Given the description of an element on the screen output the (x, y) to click on. 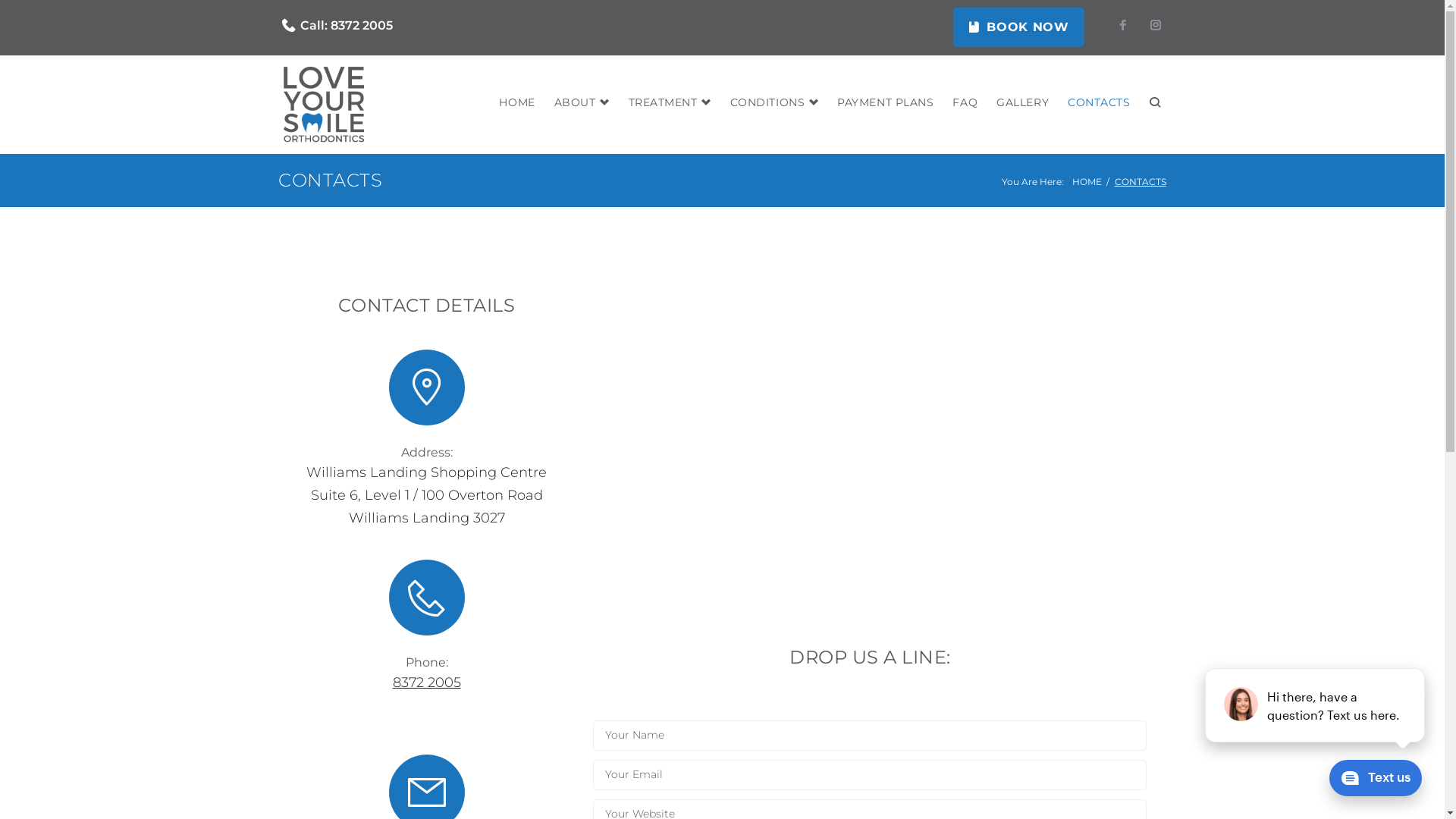
TREATMENT Element type: text (669, 102)
CONDITIONS Element type: text (774, 102)
Phone: Element type: text (426, 662)
ABOUT Element type: text (581, 102)
CONTACTS Element type: text (1098, 102)
BOOK NOW Element type: text (1018, 27)
FAQ Element type: text (964, 102)
GALLERY Element type: text (1022, 102)
8372 2005 Element type: text (426, 682)
HOME Element type: text (1086, 181)
8372 2005 Element type: text (361, 25)
PAYMENT PLANS Element type: text (885, 102)
podium webchat widget prompt Element type: hover (1315, 705)
HOME Element type: text (516, 102)
